Given the description of an element on the screen output the (x, y) to click on. 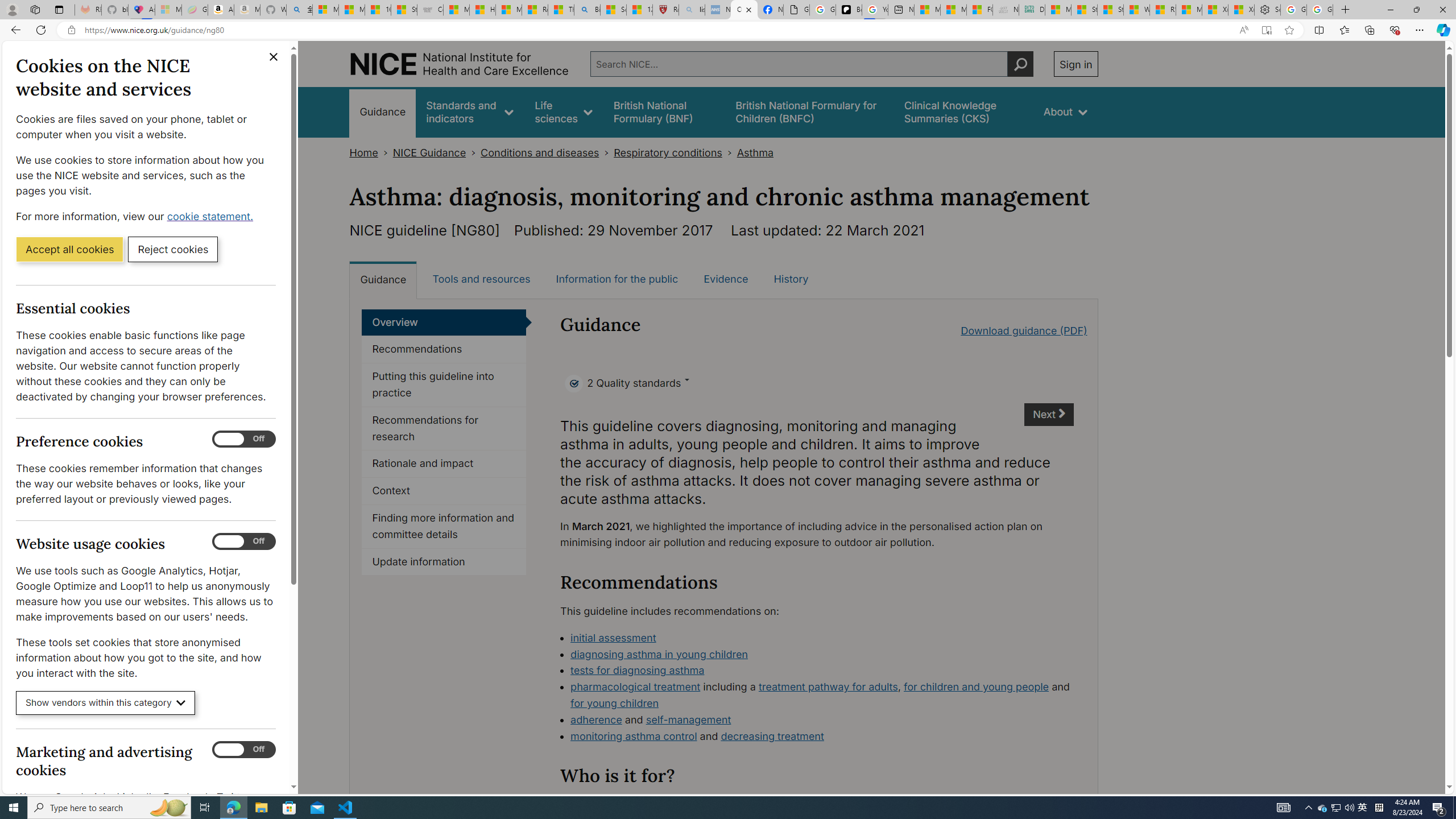
Asthma (755, 152)
Conditions and diseases> (547, 152)
Evidence (725, 279)
pharmacological treatment (635, 686)
Context (444, 491)
Recommendations for research (443, 428)
Download guidance (PDF) (1023, 330)
